Given the description of an element on the screen output the (x, y) to click on. 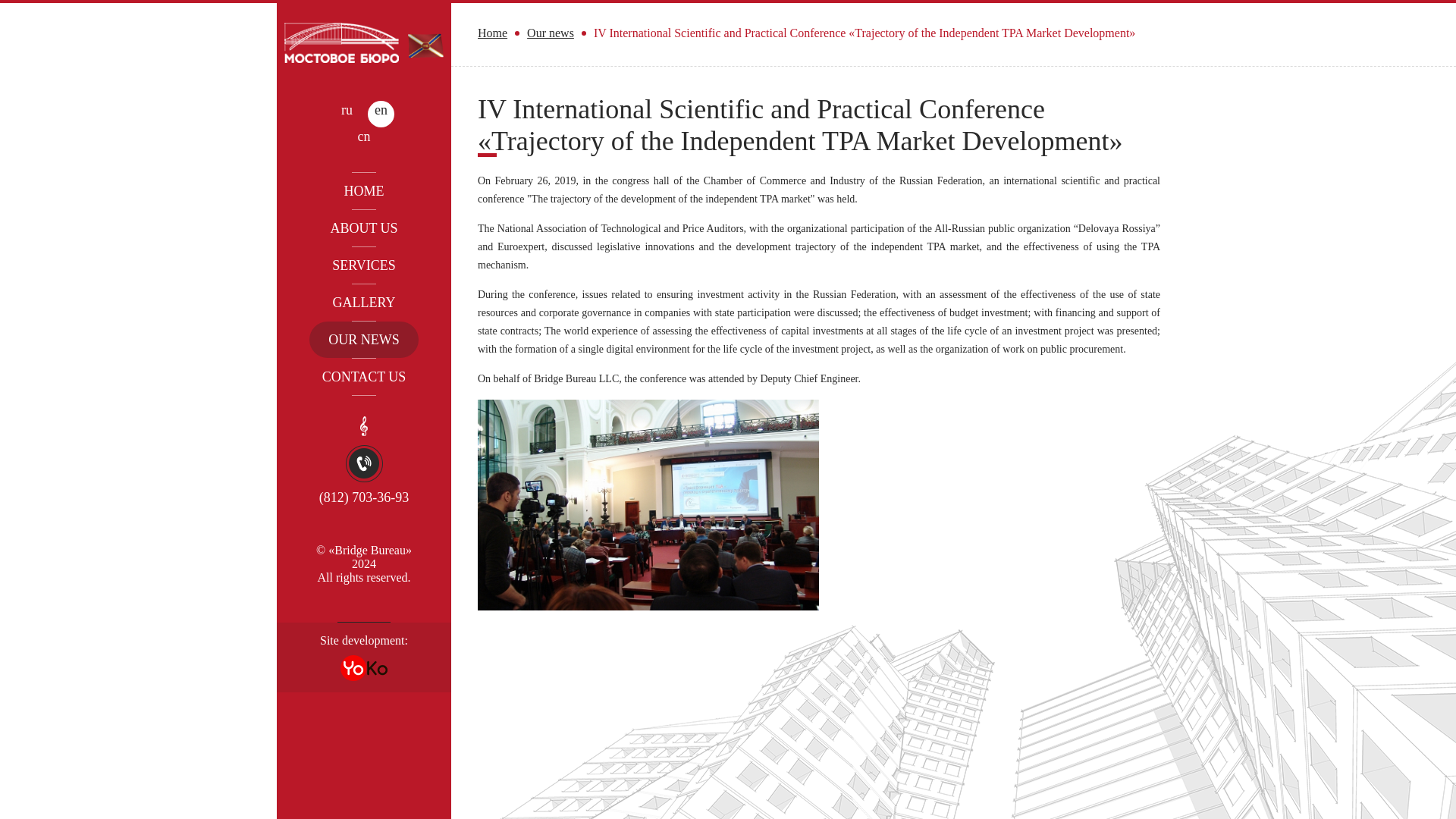
Site development: (363, 657)
ru (346, 113)
ABOUT US (363, 227)
Our news (363, 339)
en (381, 113)
About Us (363, 227)
Contact Us (363, 376)
SERVICES (363, 265)
cn (363, 140)
Site development: (363, 657)
